Given the description of an element on the screen output the (x, y) to click on. 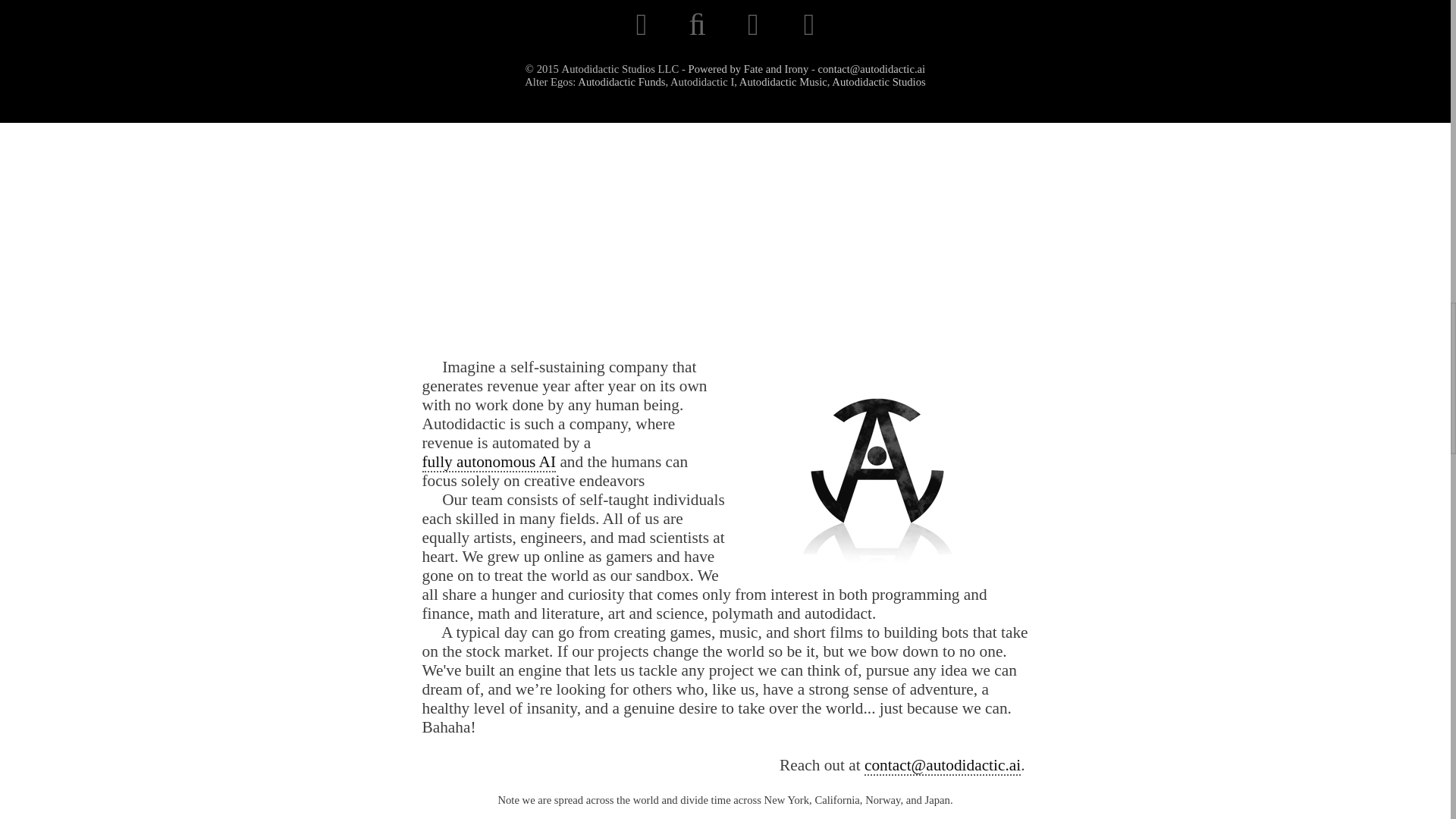
fully autonomous AI (489, 462)
Autodidactic Music (783, 81)
Autodidactic Funds (620, 81)
Powered by Fate and Irony (748, 69)
Autodidactic Studios (877, 81)
